Given the description of an element on the screen output the (x, y) to click on. 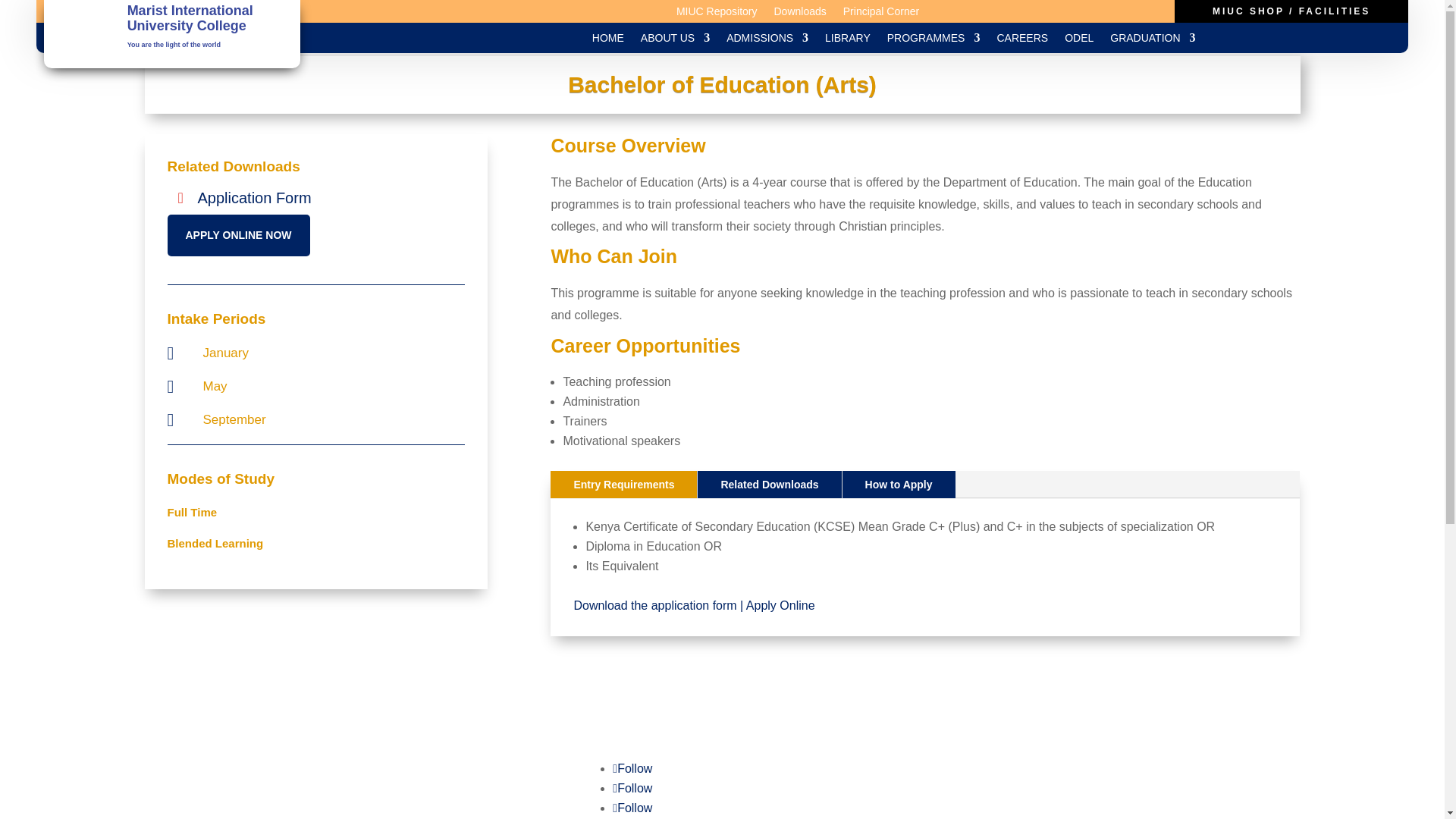
CAREERS (1021, 40)
ODEL (1078, 40)
Principal Corner (880, 13)
Follow on Facebook (632, 768)
PROGRAMMES (932, 40)
Downloads (799, 13)
ADMISSIONS (767, 40)
Follow on Twitter (632, 788)
Application Form (244, 197)
Marist International University College (190, 18)
LIBRARY (847, 40)
GRADUATION (1152, 40)
MIUC Repository (717, 13)
HOME (608, 40)
Follow on Instagram (632, 807)
